Given the description of an element on the screen output the (x, y) to click on. 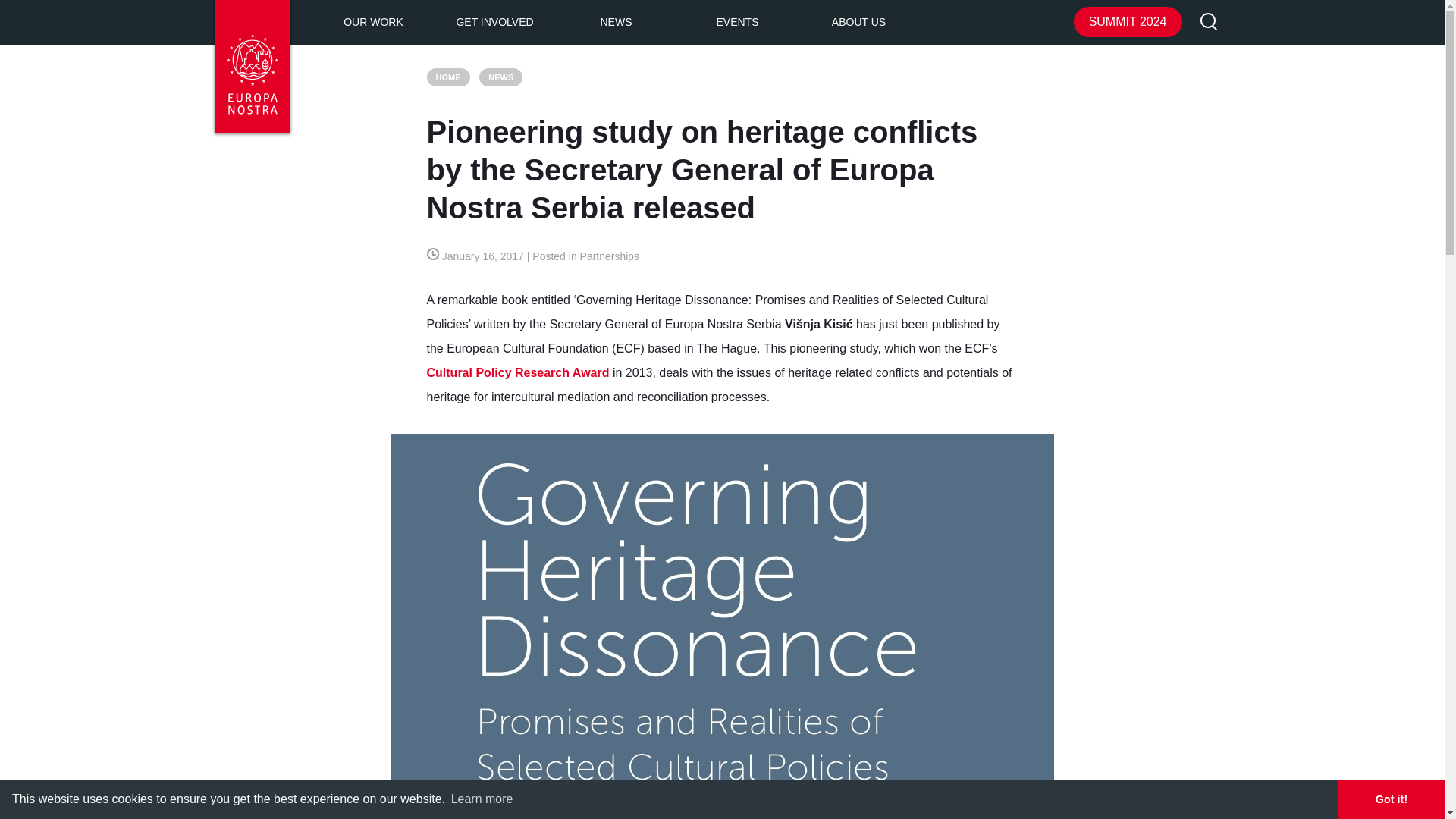
NEWS (615, 22)
OUR WORK (373, 22)
Learn more (481, 798)
GET INVOLVED (493, 22)
seach (1209, 22)
Home (447, 76)
ABOUT US (857, 22)
Posts (500, 76)
EVENTS (737, 22)
